Given the description of an element on the screen output the (x, y) to click on. 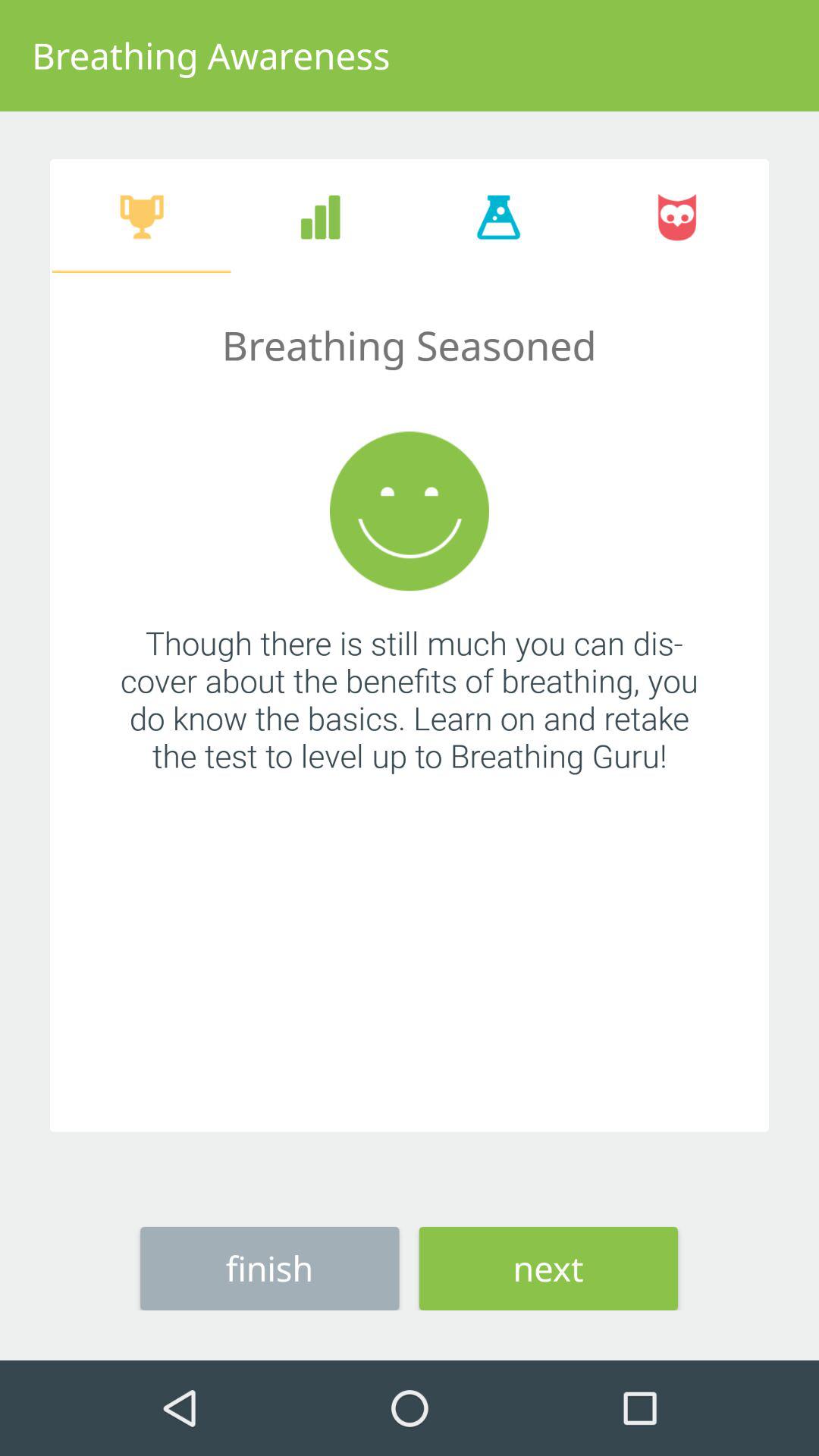
choose icon to the left of the next button (269, 1268)
